Given the description of an element on the screen output the (x, y) to click on. 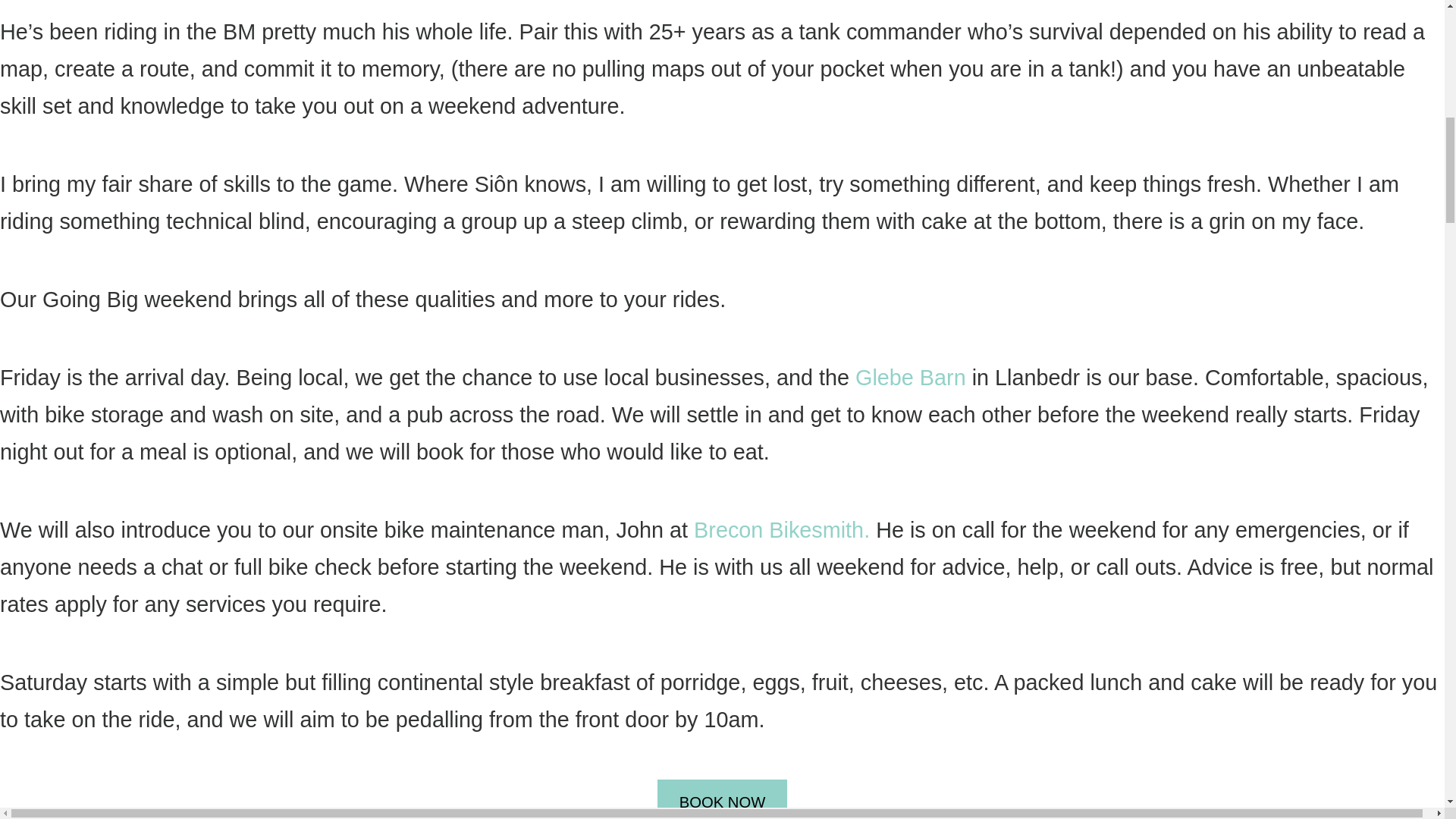
BOOK NOW (722, 799)
Glebe Barn (911, 377)
Brecon Bikesmith. (781, 529)
